Given the description of an element on the screen output the (x, y) to click on. 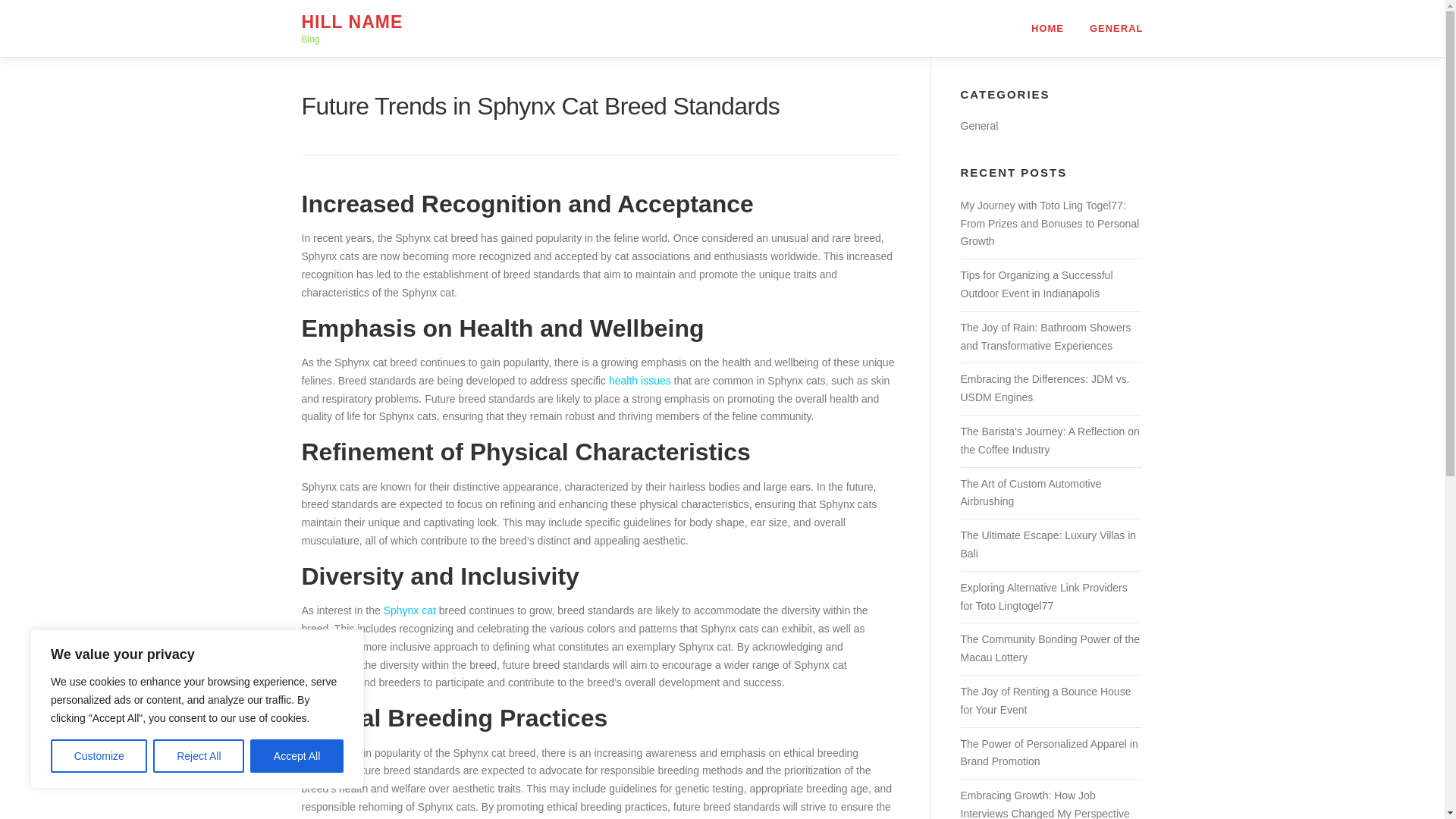
Customize (98, 756)
HILL NAME (352, 21)
The Community Bonding Power of the Macau Lottery (1049, 648)
Exploring Alternative Link Providers for Toto Lingtogel77 (1042, 596)
Reject All (198, 756)
The Art of Custom Automotive Airbrushing (1029, 492)
The Ultimate Escape: Luxury Villas in Bali (1047, 544)
Accept All (296, 756)
